Given the description of an element on the screen output the (x, y) to click on. 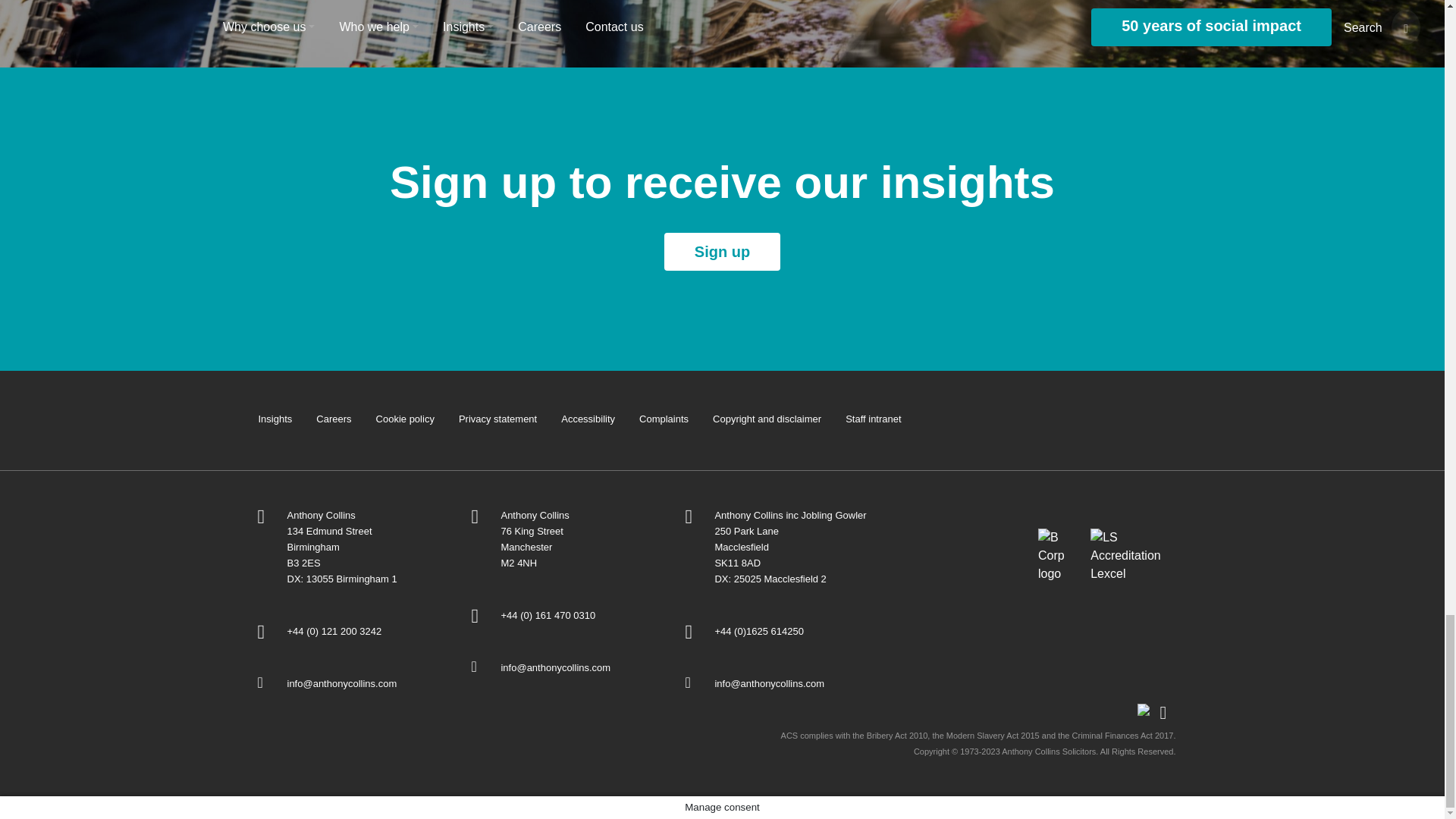
Solicitors Regulation Authority (961, 544)
